Given the description of an element on the screen output the (x, y) to click on. 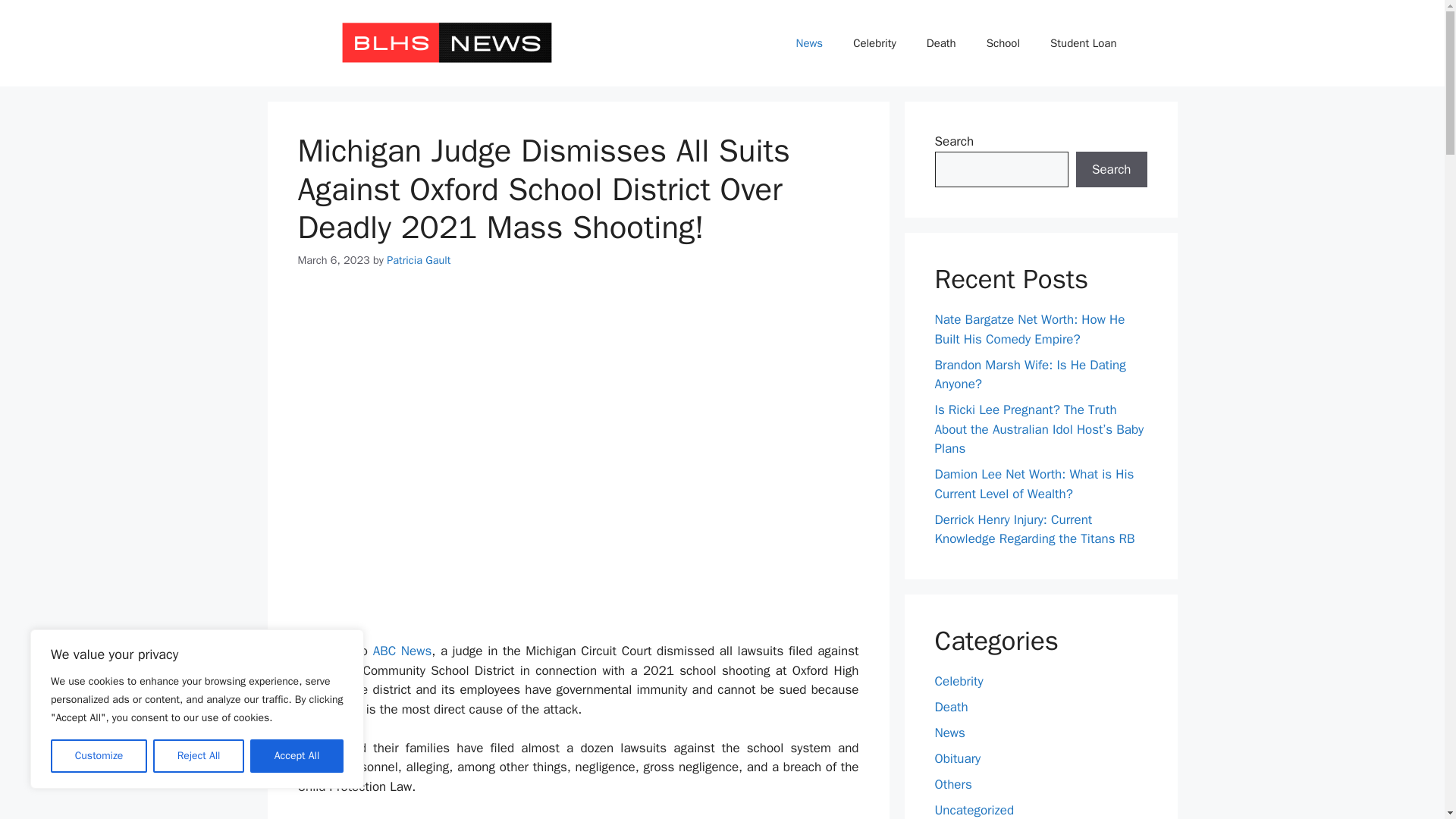
ABC News (402, 650)
Death (941, 43)
Student Loan (1083, 43)
Accept All (296, 756)
School (1003, 43)
View all posts by Patricia Gault (418, 259)
Ethan Crumbley (640, 818)
Reject All (198, 756)
Celebrity (874, 43)
Customize (98, 756)
News (809, 43)
Patricia Gault (418, 259)
